Given the description of an element on the screen output the (x, y) to click on. 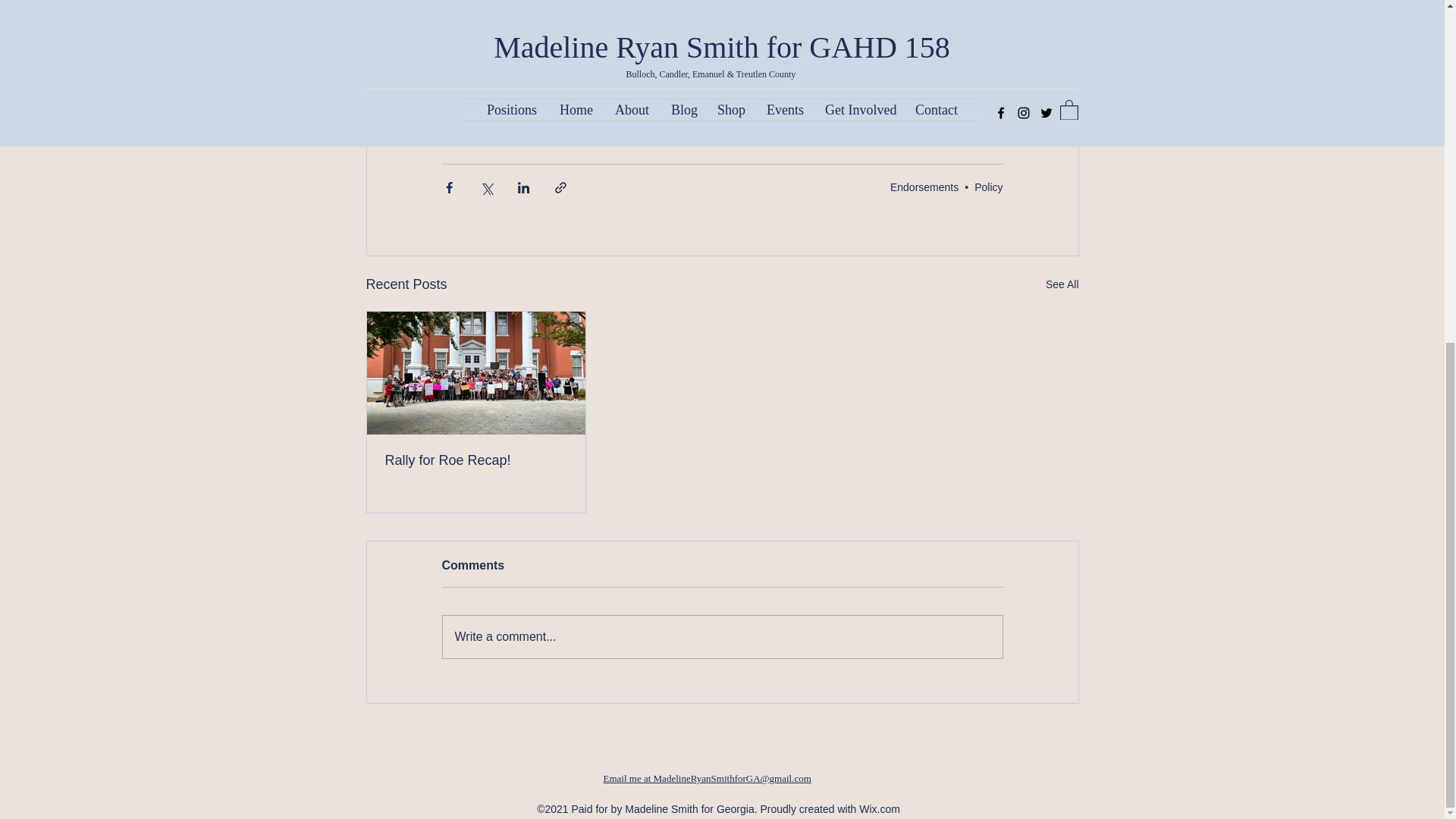
endorsement (647, 128)
reproductive rights (548, 128)
Endorsements (923, 186)
policy (464, 128)
